Given the description of an element on the screen output the (x, y) to click on. 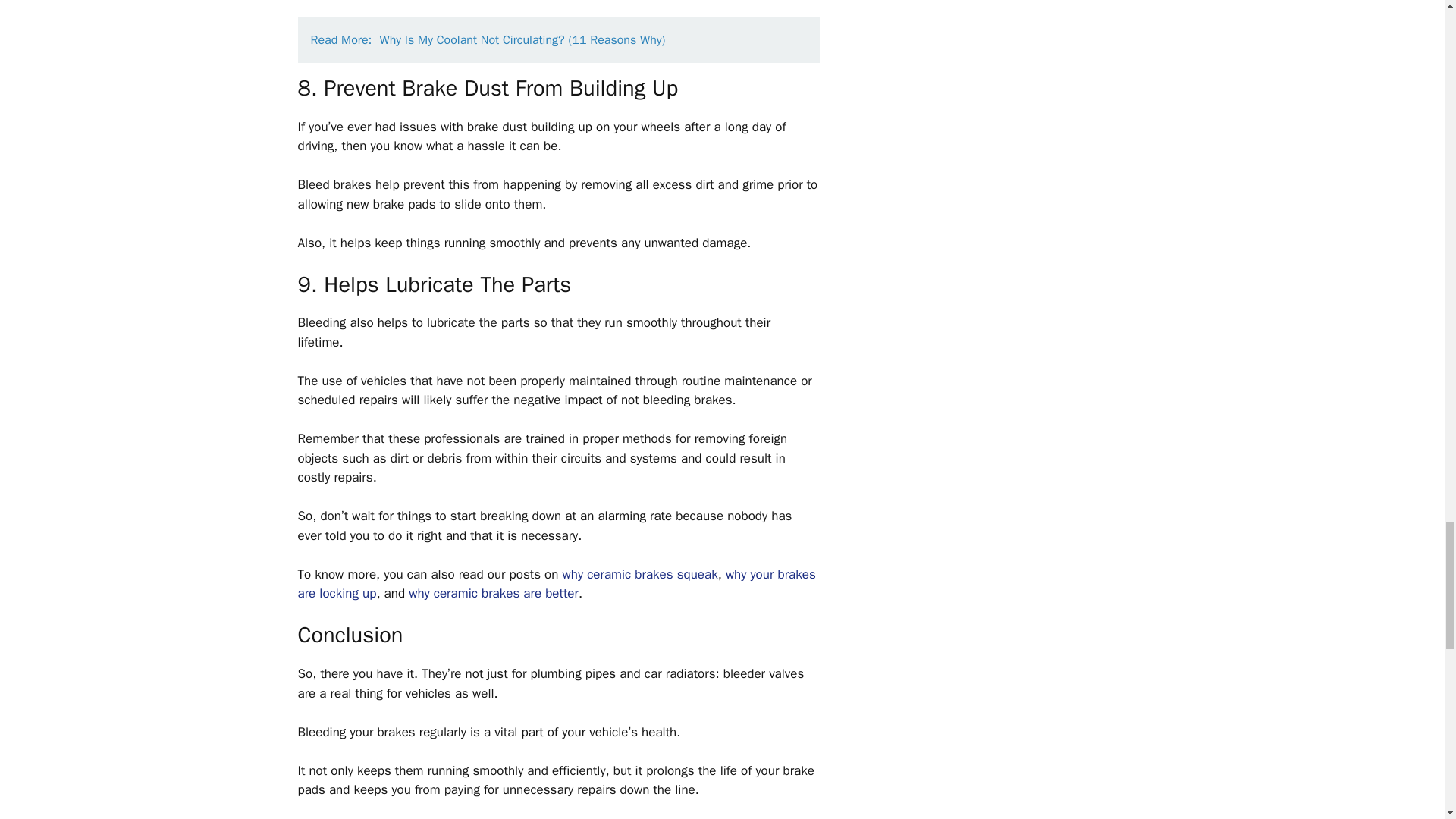
why your brakes are locking up (556, 583)
why ceramic brakes are better (493, 593)
why ceramic brakes squeak (639, 574)
